Given the description of an element on the screen output the (x, y) to click on. 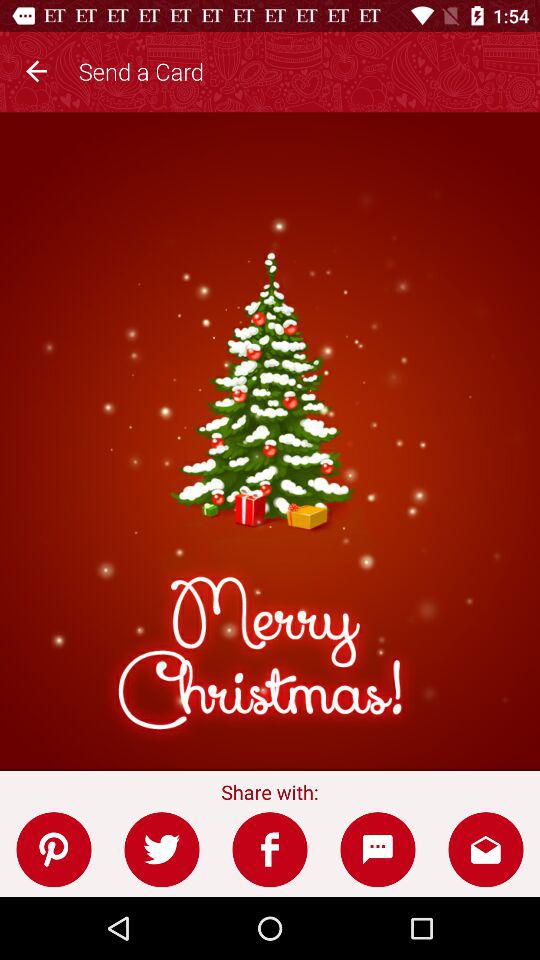
tap icon to the left of send a card item (36, 68)
